Given the description of an element on the screen output the (x, y) to click on. 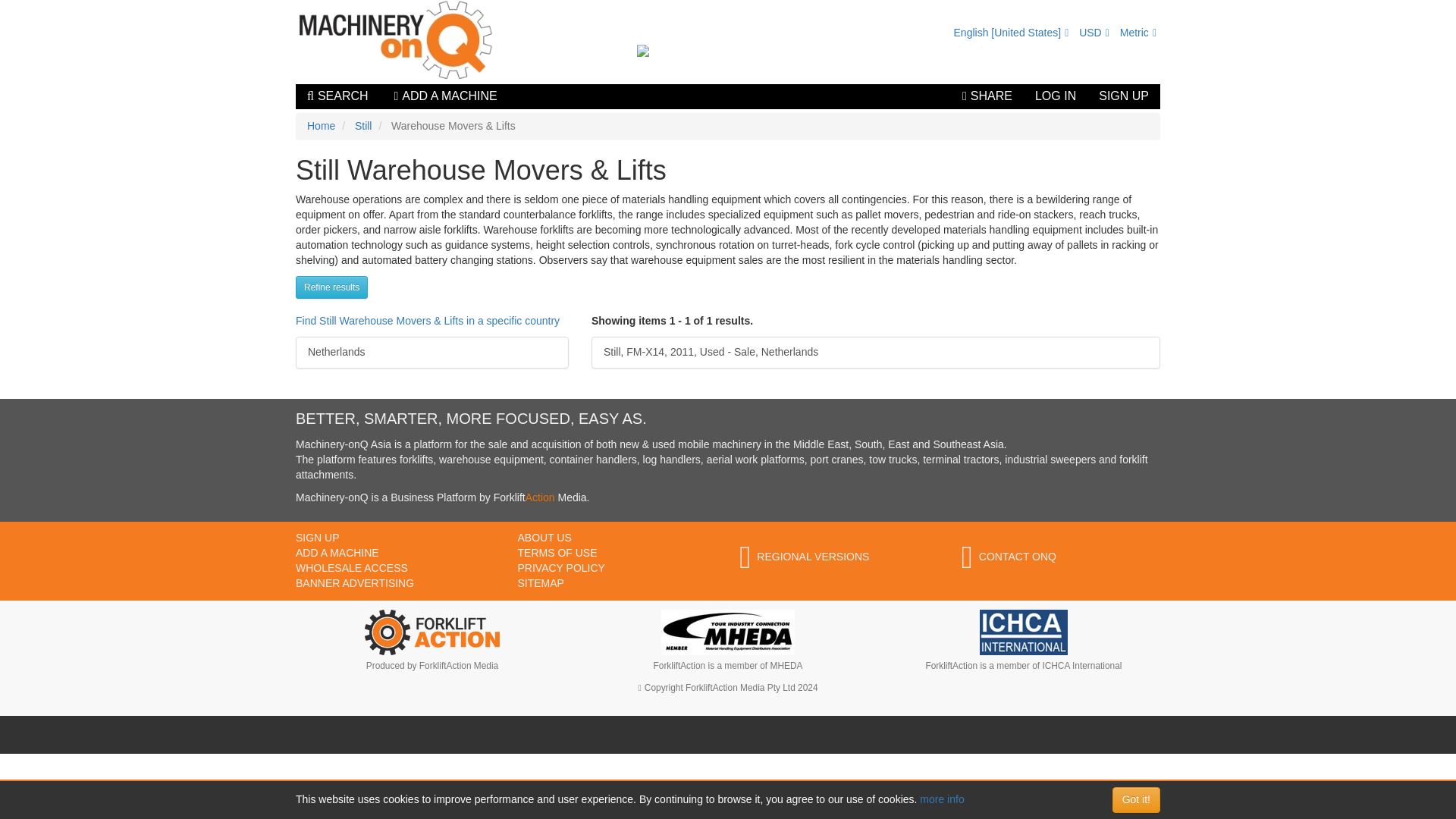
Metric (1137, 32)
USD (1093, 32)
SEARCH (337, 95)
